Given the description of an element on the screen output the (x, y) to click on. 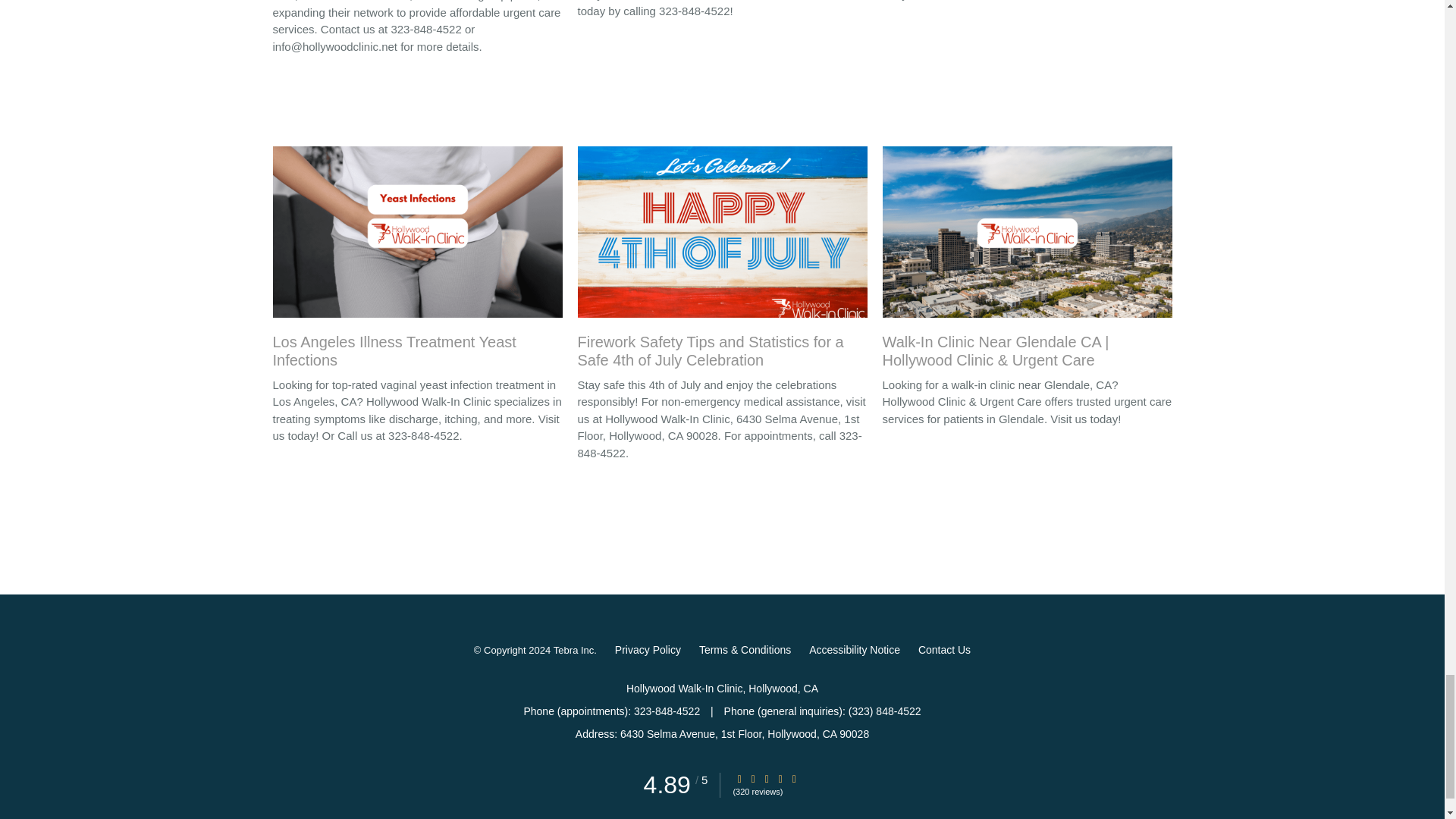
Star Rating (794, 778)
Star Rating (753, 778)
Star Rating (780, 778)
Star Rating (738, 778)
Star Rating (766, 778)
